Given the description of an element on the screen output the (x, y) to click on. 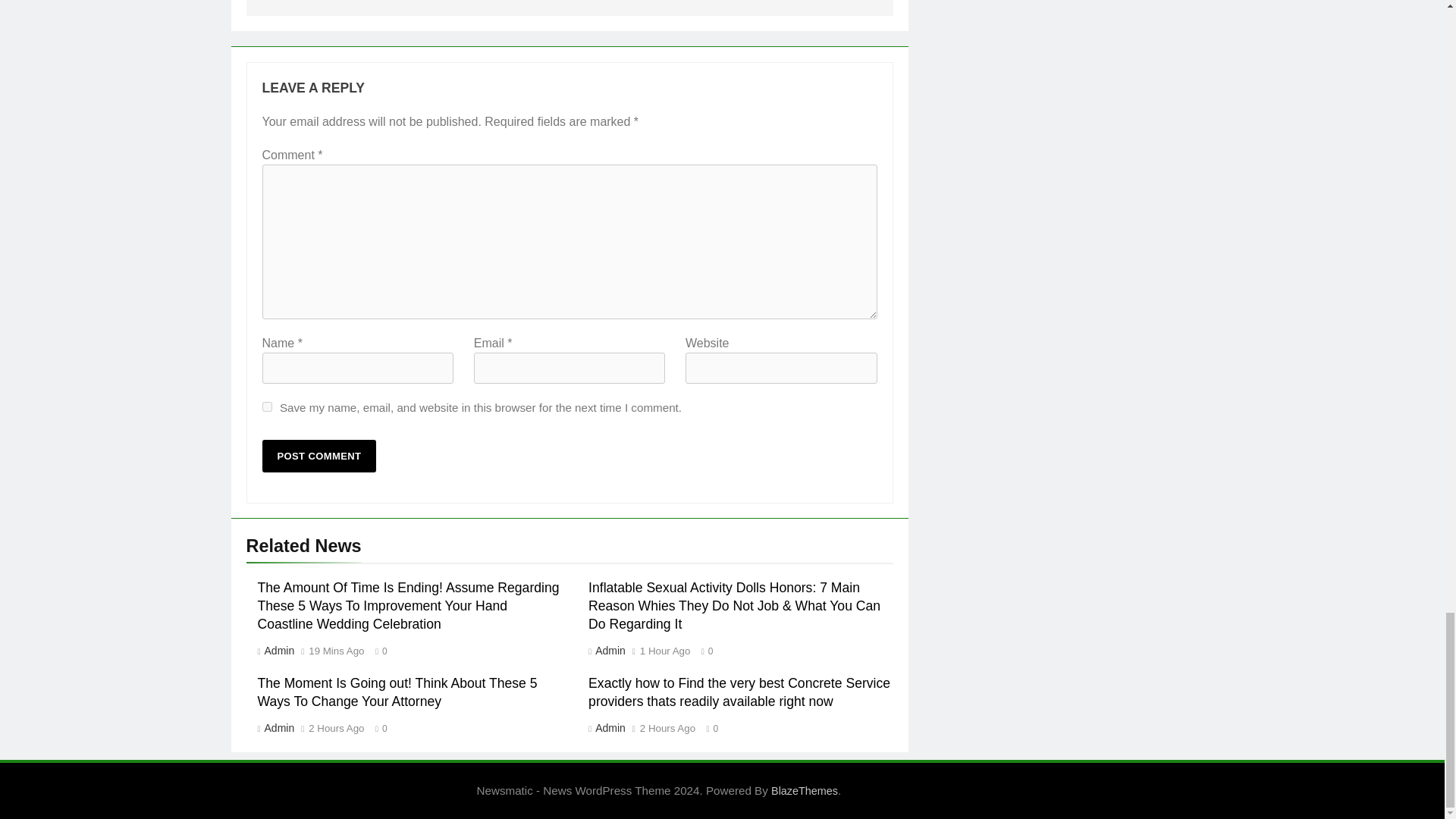
Post Comment (319, 455)
yes (267, 406)
